Given the description of an element on the screen output the (x, y) to click on. 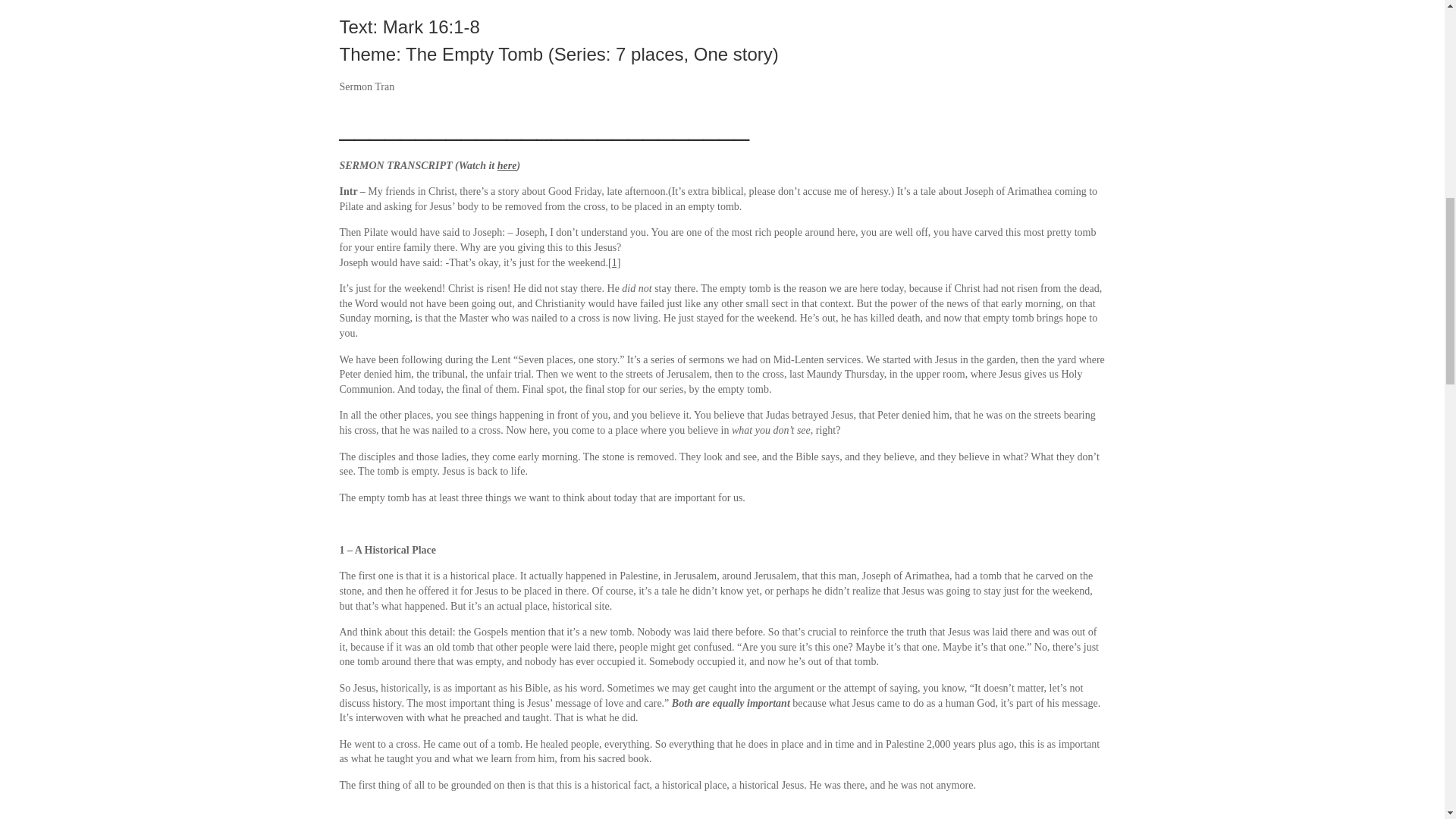
here (506, 165)
